Given the description of an element on the screen output the (x, y) to click on. 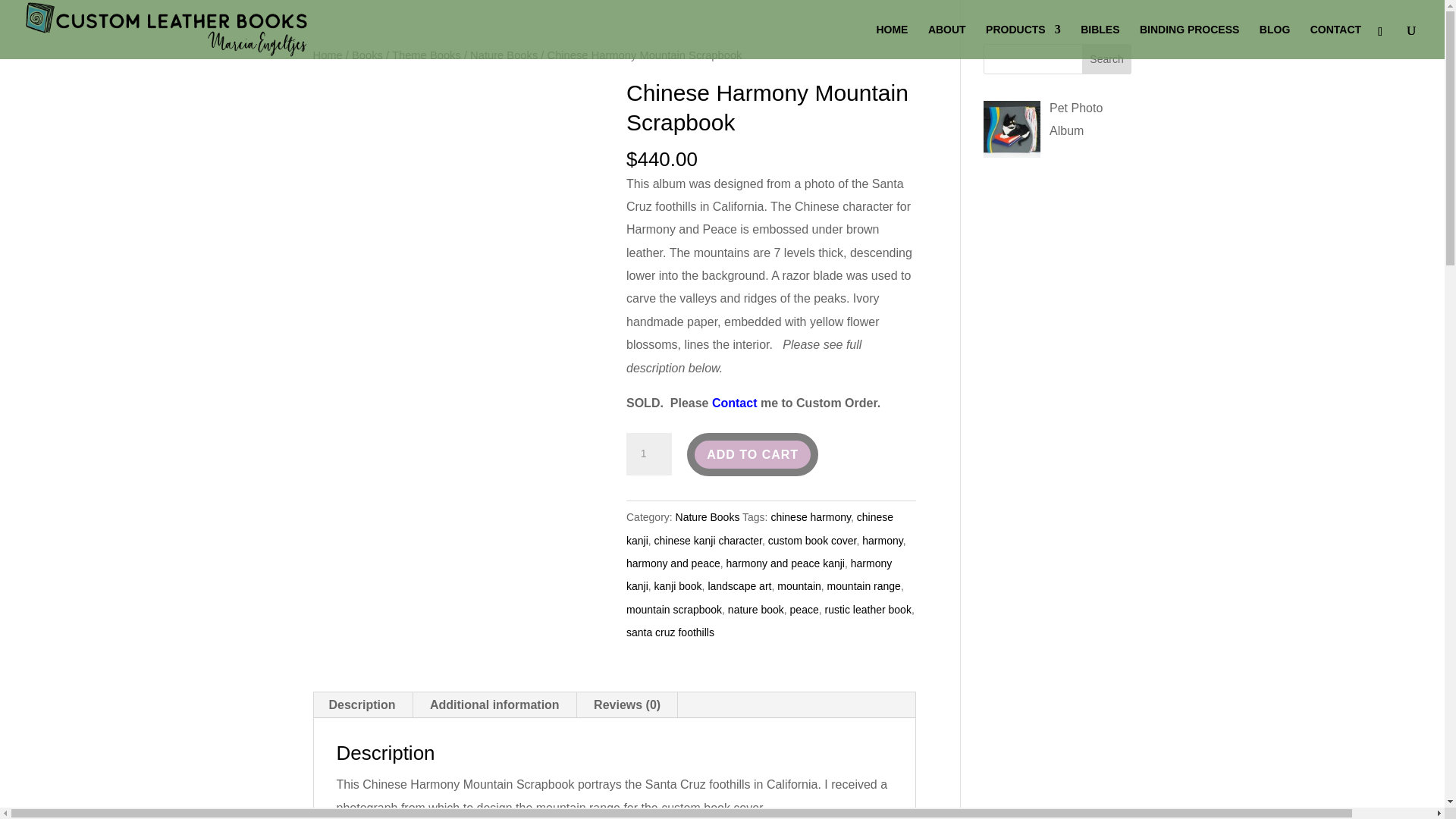
1 (648, 454)
ABOUT (947, 41)
Search (1106, 59)
HOME (891, 41)
Qty (648, 454)
PRODUCTS (1023, 41)
